Given the description of an element on the screen output the (x, y) to click on. 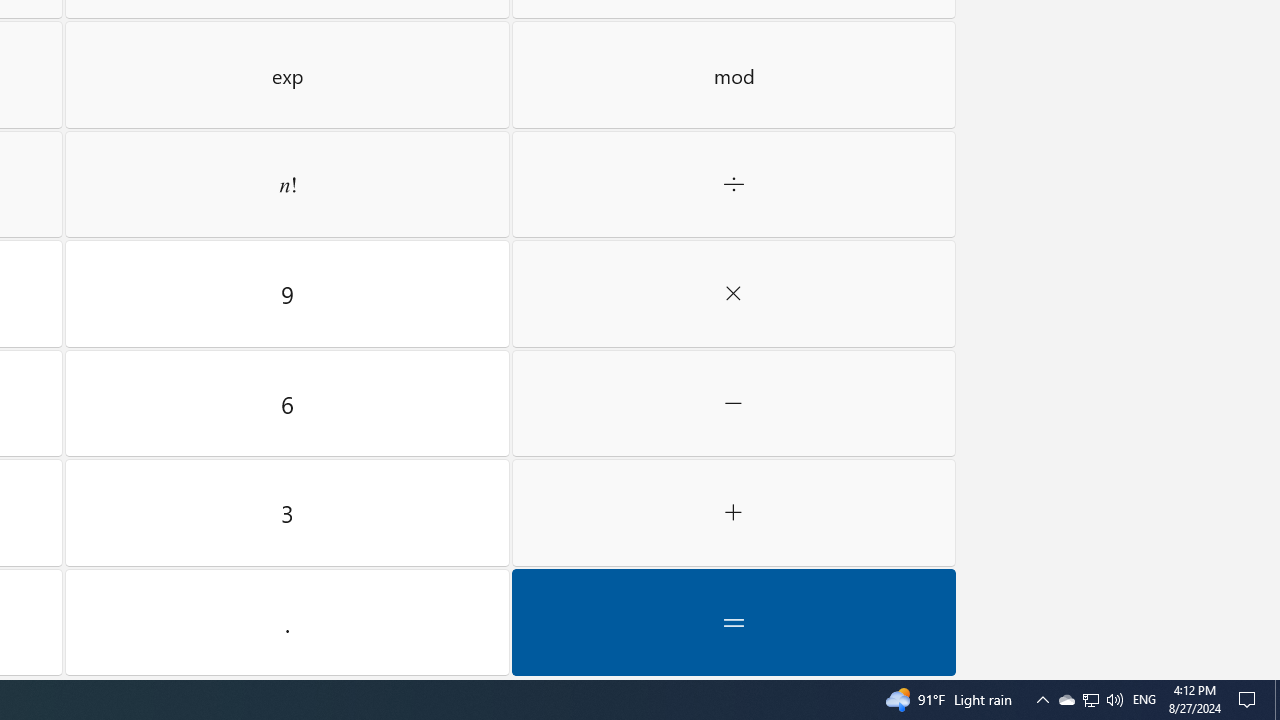
Plus (734, 513)
Modulo (734, 74)
Equals (1091, 699)
Three (734, 622)
Decimal separator (287, 513)
Tray Input Indicator - English (United States) (287, 622)
Notification Chevron (1144, 699)
Nine (1042, 699)
User Promoted Notification Area (287, 293)
Action Center, No new notifications (1090, 699)
Exponential (1250, 699)
Minus (287, 74)
